Given the description of an element on the screen output the (x, y) to click on. 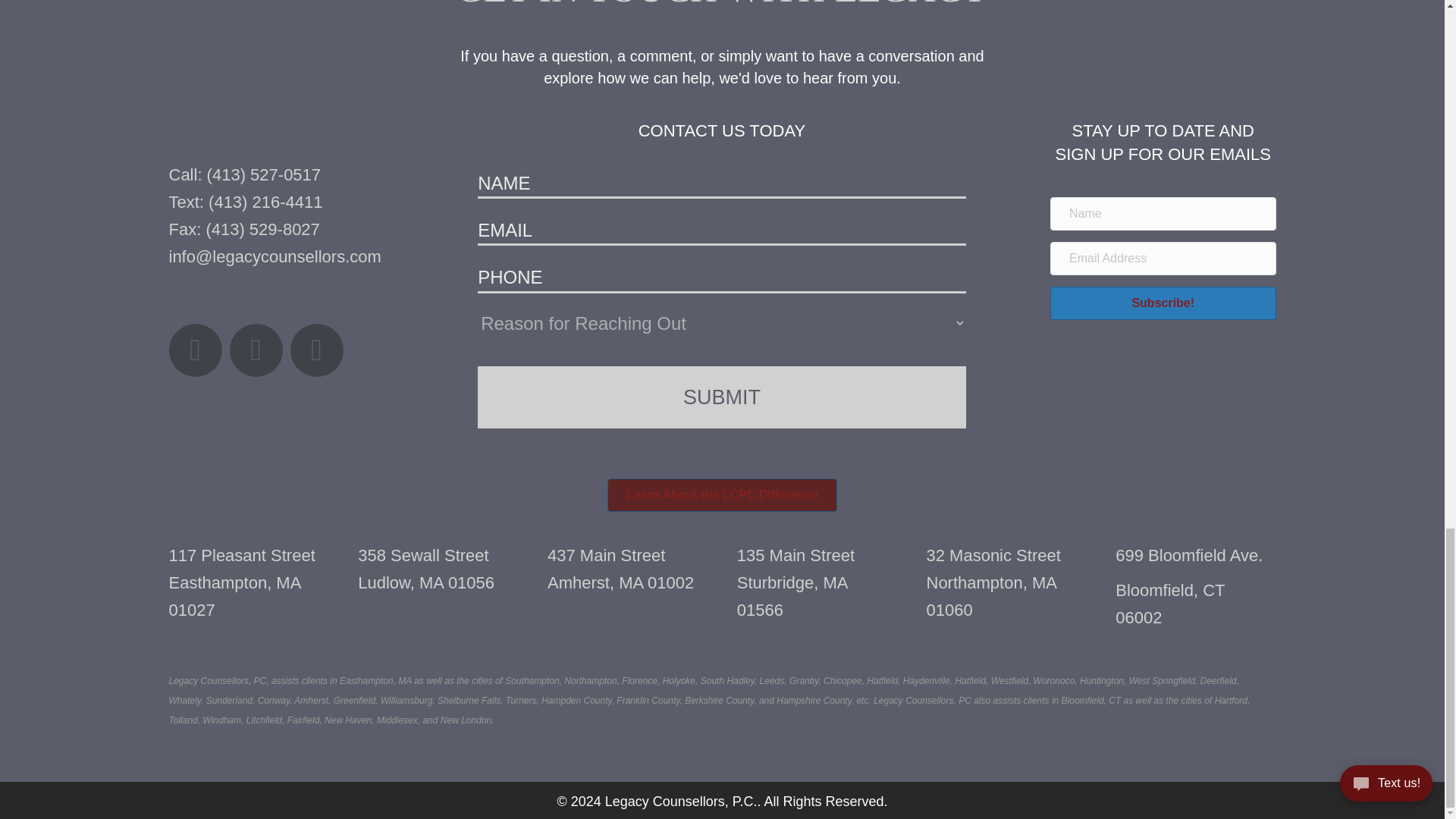
Submit (721, 397)
